Given the description of an element on the screen output the (x, y) to click on. 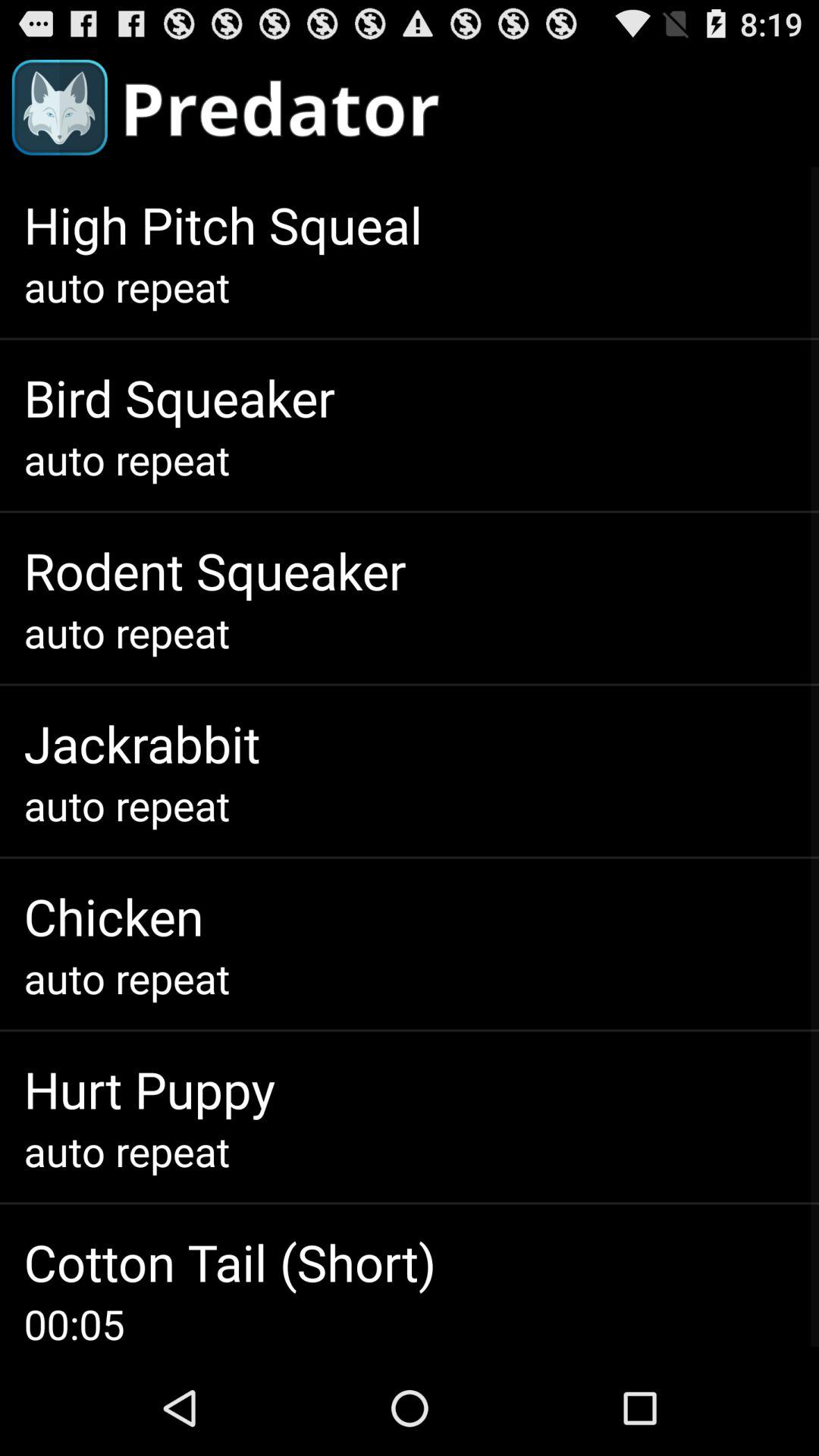
click icon below the cotton tail (short) (73, 1323)
